Given the description of an element on the screen output the (x, y) to click on. 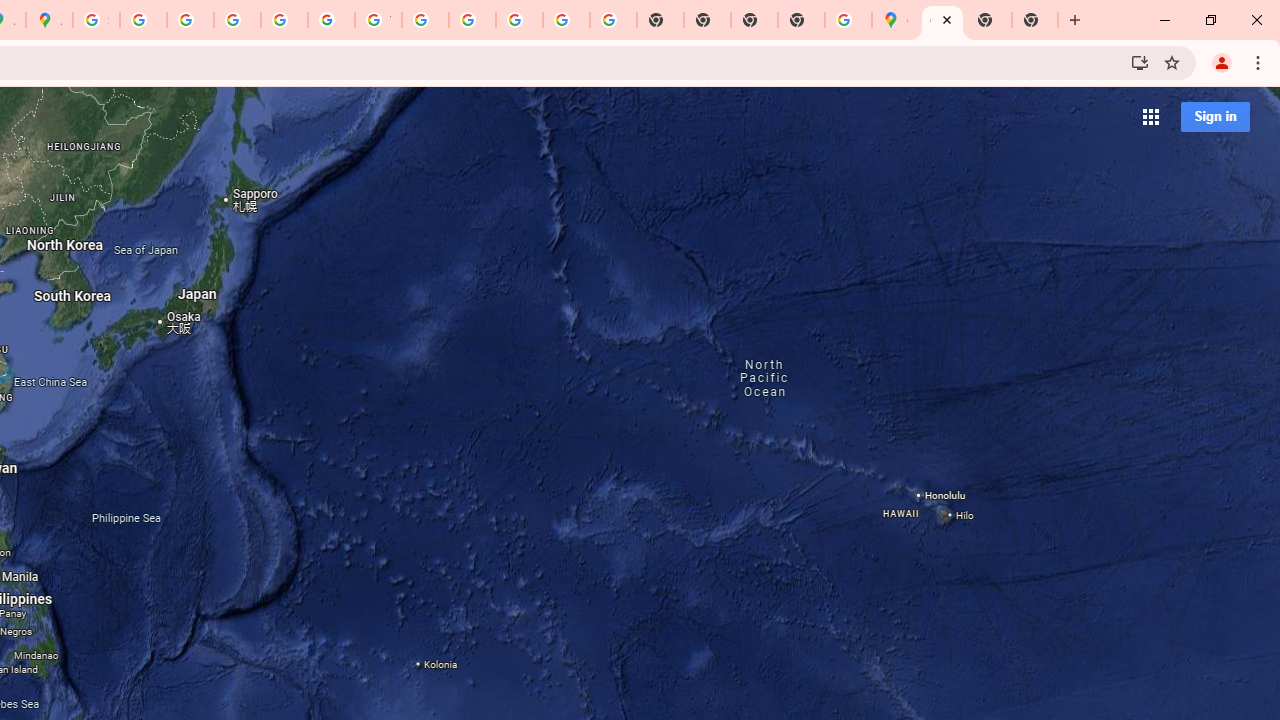
New Tab (989, 20)
YouTube (377, 20)
Privacy Help Center - Policies Help (189, 20)
Use Google Maps in Space - Google Maps Help (848, 20)
